Given the description of an element on the screen output the (x, y) to click on. 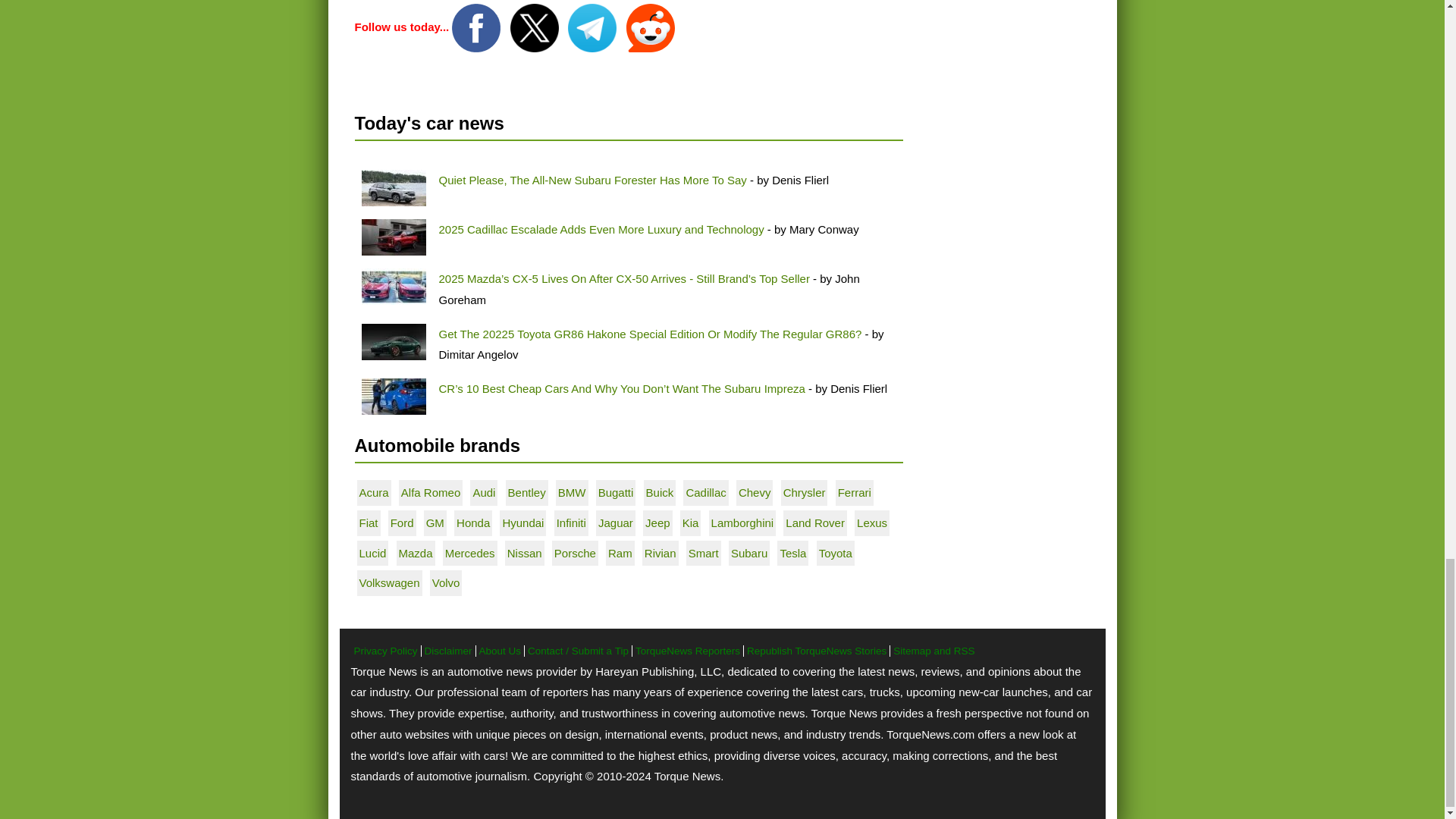
2025 Subaru Forester at the lake (393, 187)
Join us on Reddit! (650, 26)
Join us on Telegram! (593, 26)
2024 Subaru Impreza in dealership's bay (393, 396)
Quiet Please, The All-New Subaru Forester Has More To Say (591, 179)
Acura (373, 492)
Cadillac Photo (393, 237)
2025 Toyota GR86 Hakone Special Edition (393, 341)
Image Mazda CX-5 and CX-50 by John Goreham (393, 286)
Alfa Romeo (430, 492)
2025 Cadillac Escalade Adds Even More Luxury and Technology (600, 228)
Audi (483, 492)
